Given the description of an element on the screen output the (x, y) to click on. 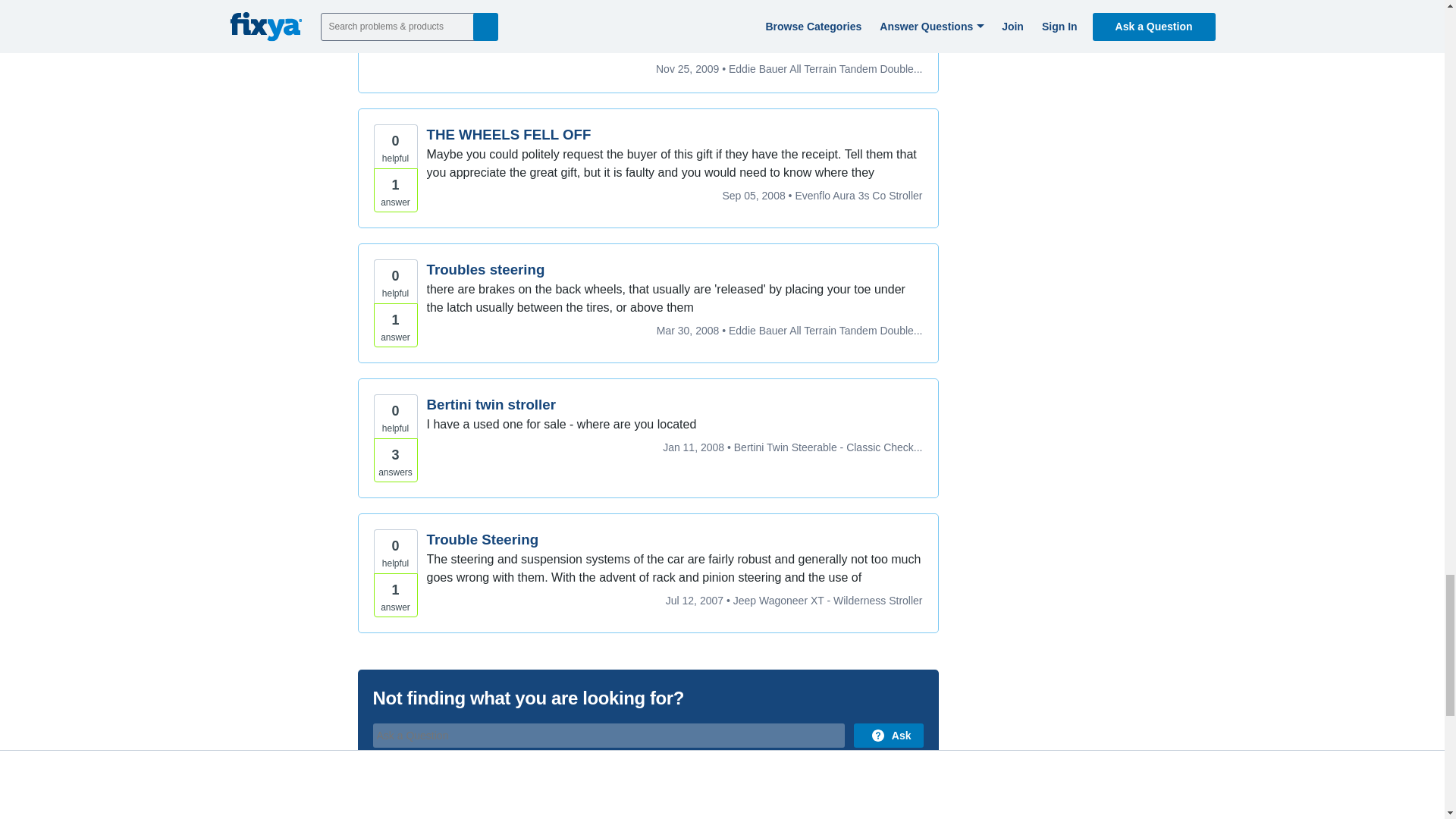
Ask (888, 735)
